Given the description of an element on the screen output the (x, y) to click on. 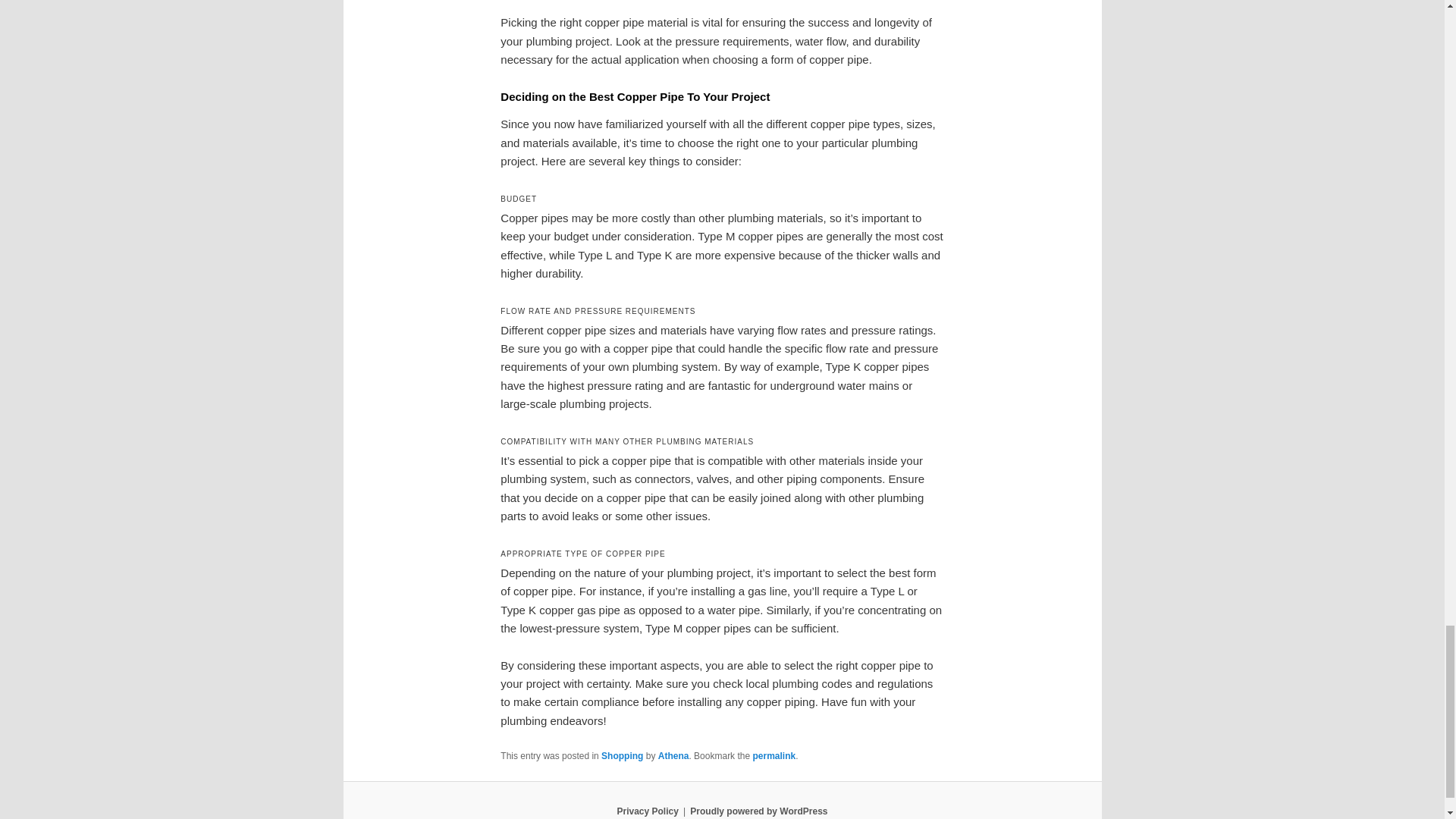
Semantic Personal Publishing Platform (758, 810)
permalink (773, 756)
Proudly powered by WordPress (758, 810)
Shopping (622, 756)
Privacy Policy (646, 810)
Athena (673, 756)
